Given the description of an element on the screen output the (x, y) to click on. 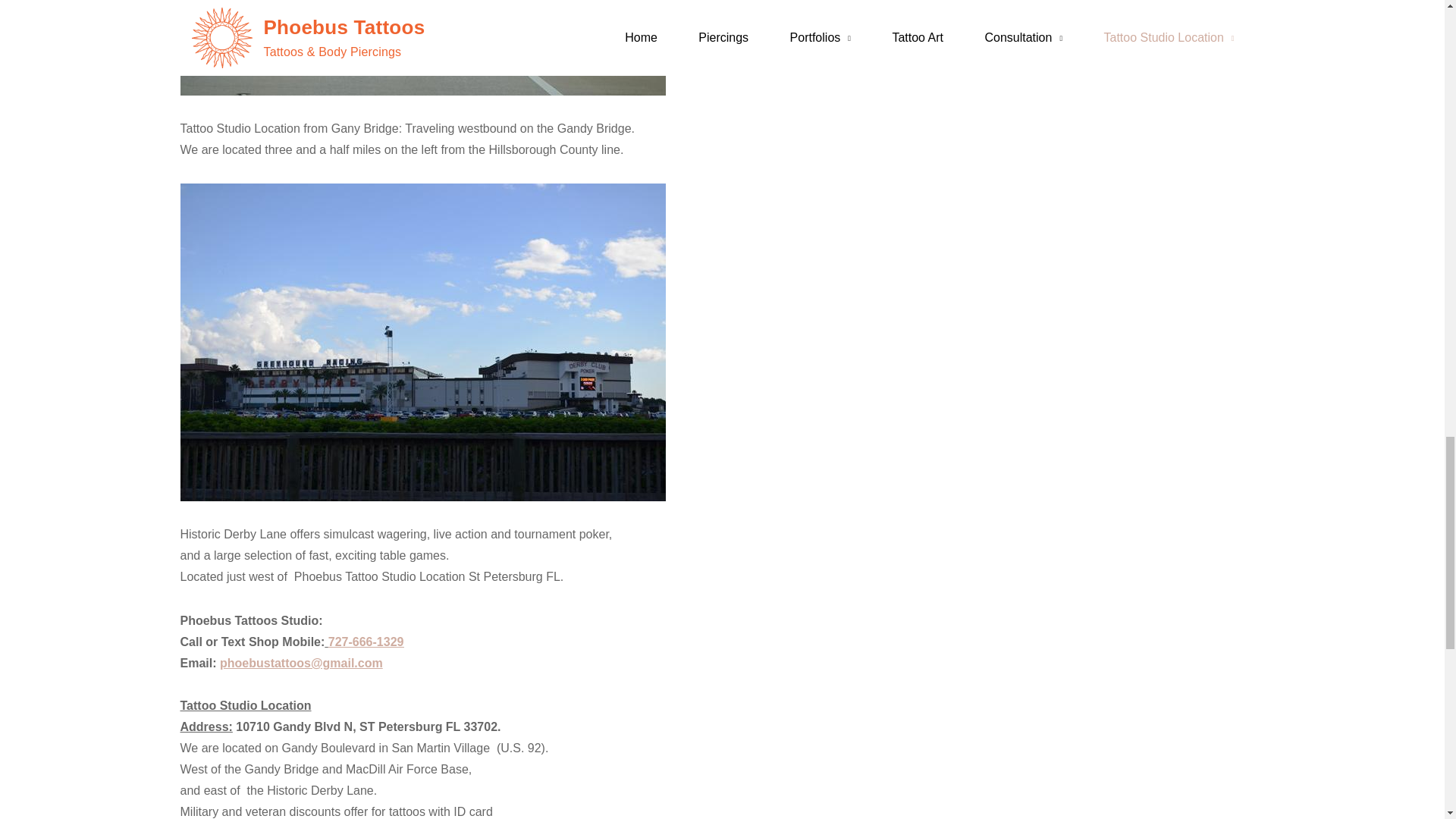
727-666-1329 (366, 641)
